Given the description of an element on the screen output the (x, y) to click on. 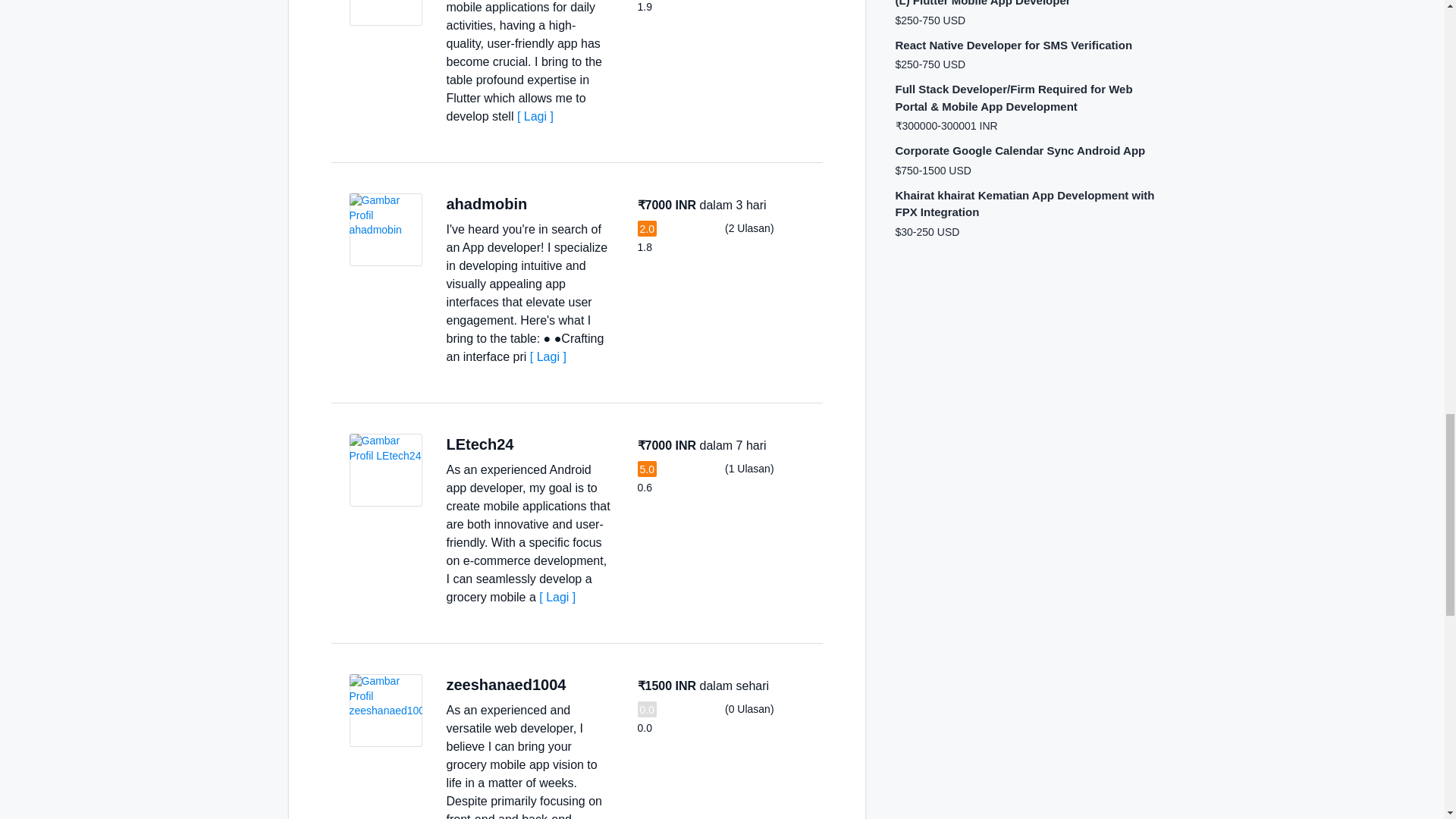
Lihat Profil zeeshanaed1004 (385, 710)
Pakistan (581, 685)
Lagi (556, 596)
United States (528, 444)
Lihat Profil hammasunnabi123 (385, 12)
Lagi (534, 115)
Lagi (547, 356)
Pakistan (542, 204)
zeeshanaed1004 (505, 684)
ahadmobin (486, 203)
Lihat Profil LEtech24 (385, 470)
LEtech24 (479, 443)
Lihat Profil ahadmobin (385, 229)
